Given the description of an element on the screen output the (x, y) to click on. 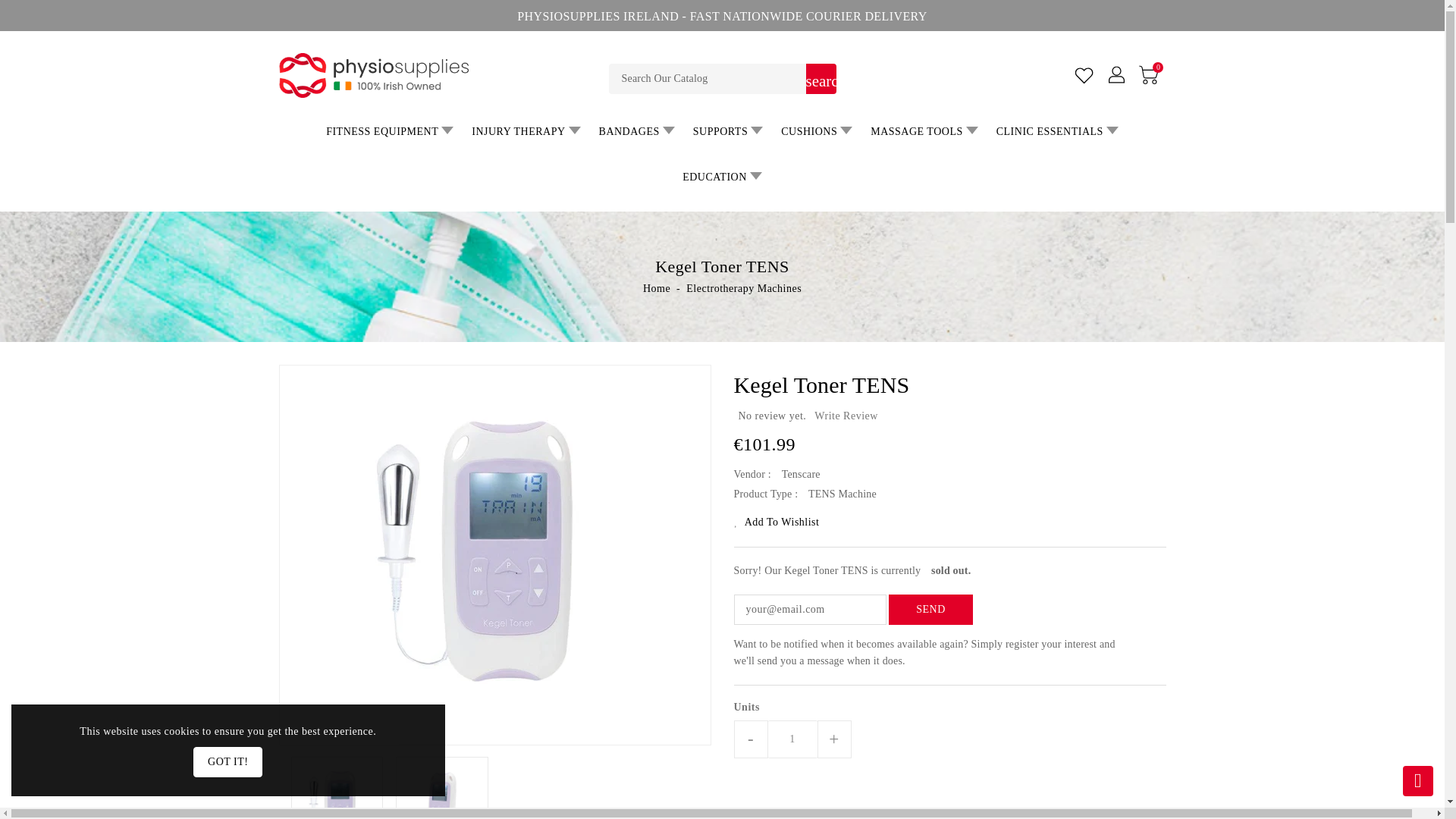
Send (930, 609)
1 (791, 739)
FITNESS EQUIPMENT (389, 131)
Back to the frontpage (656, 288)
INJURY THERAPY (526, 131)
top (1417, 780)
